Given the description of an element on the screen output the (x, y) to click on. 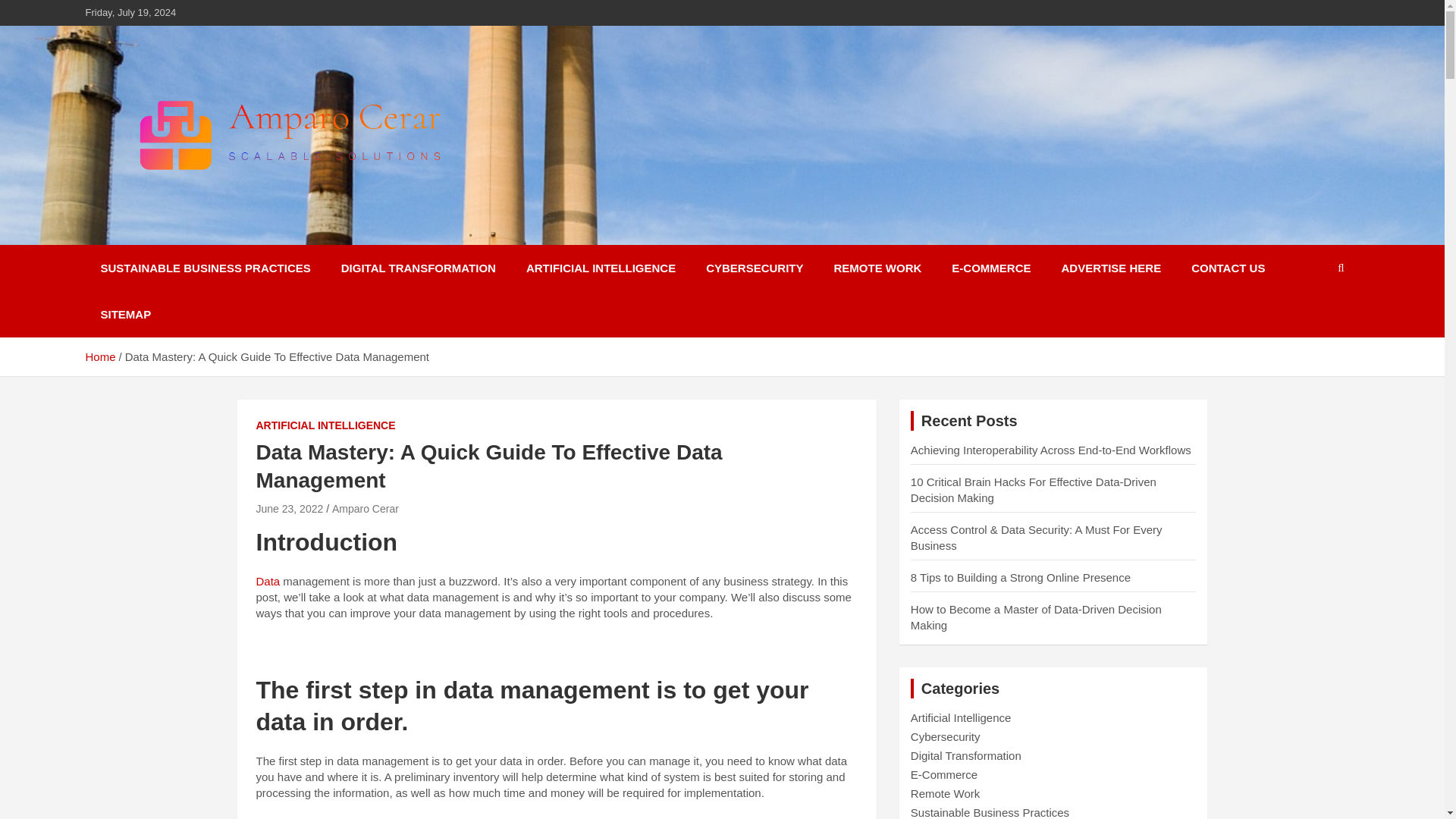
DIGITAL TRANSFORMATION (418, 267)
ADVERTISE HERE (1111, 267)
Data (268, 581)
Amparo Cerar (364, 508)
SITEMAP (124, 314)
Home (99, 356)
REMOTE WORK (877, 267)
8 Tips to Building a Strong Online Presence (1021, 576)
Digital Transformation (966, 755)
June 23, 2022 (289, 508)
Achieving Interoperability Across End-to-End Workflows (1051, 449)
Amparo Cerar (185, 233)
CONTACT US (1227, 267)
Artificial Intelligence (961, 717)
Cybersecurity (945, 736)
